Given the description of an element on the screen output the (x, y) to click on. 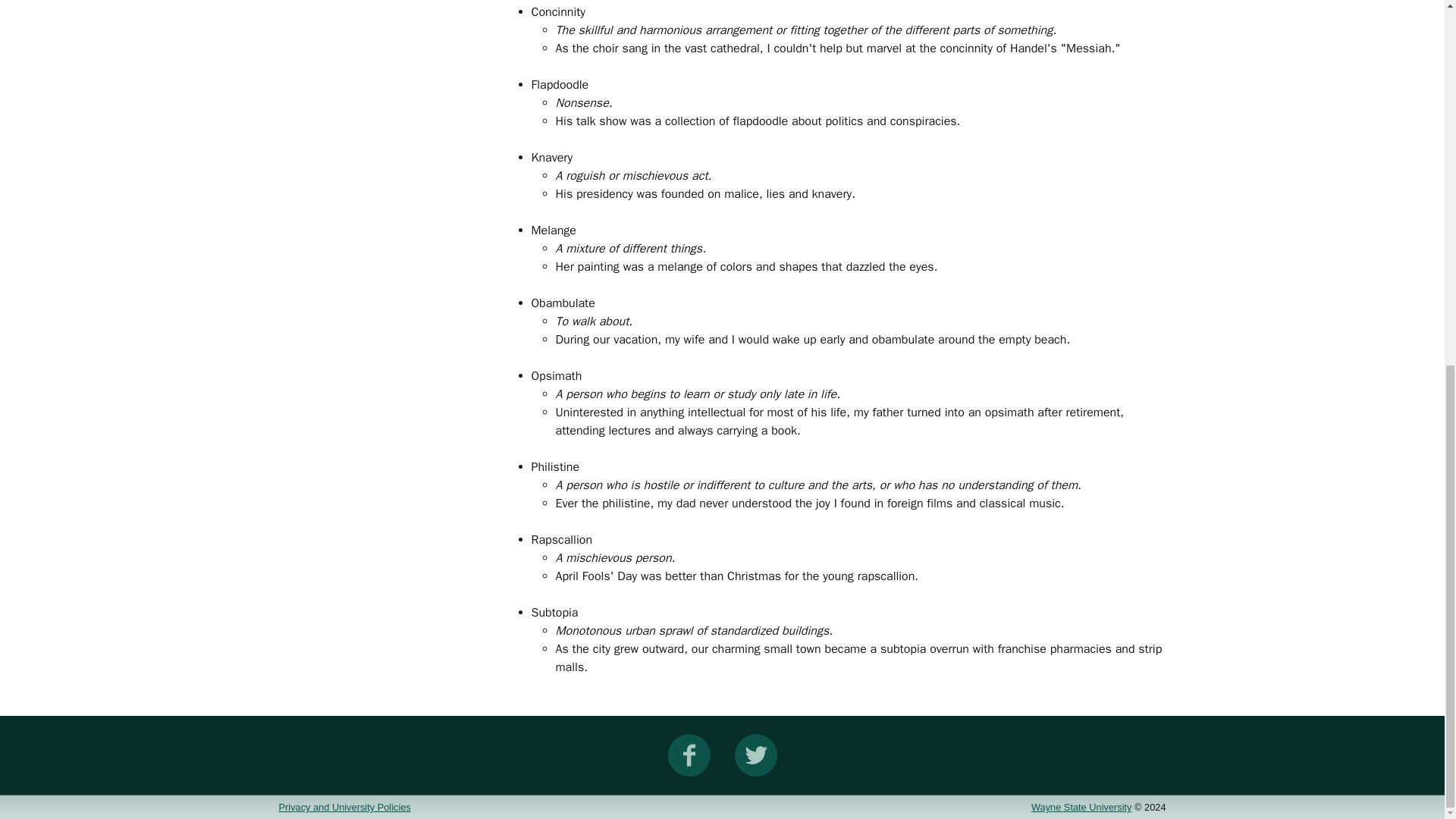
Wayne State University (1081, 807)
Privacy and University Policies (344, 807)
